Given the description of an element on the screen output the (x, y) to click on. 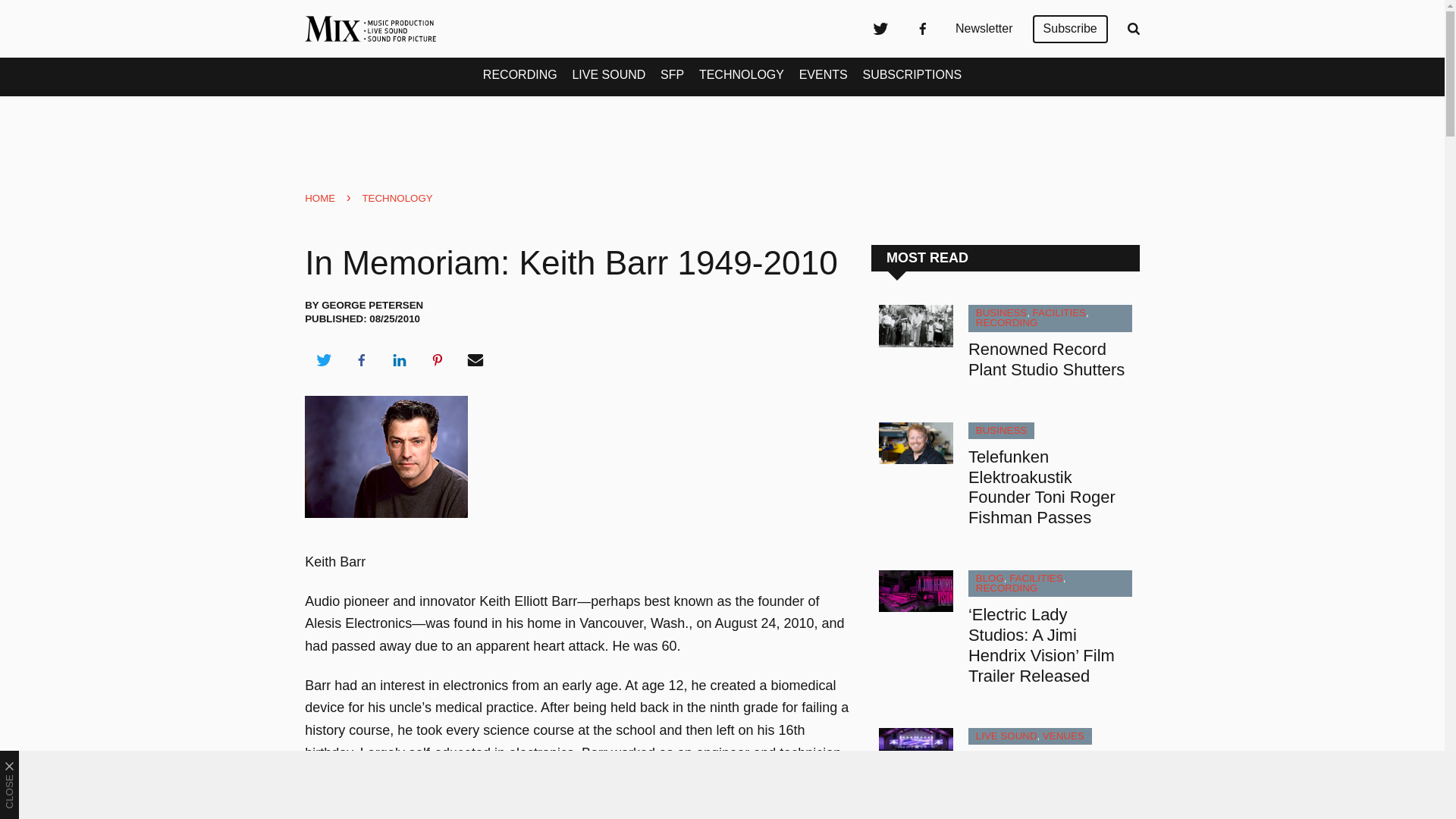
Share on Pinterest (438, 360)
Share on Facebook (361, 360)
Share on LinkedIn (399, 360)
Share on Twitter (323, 360)
Share via Email (476, 360)
